Given the description of an element on the screen output the (x, y) to click on. 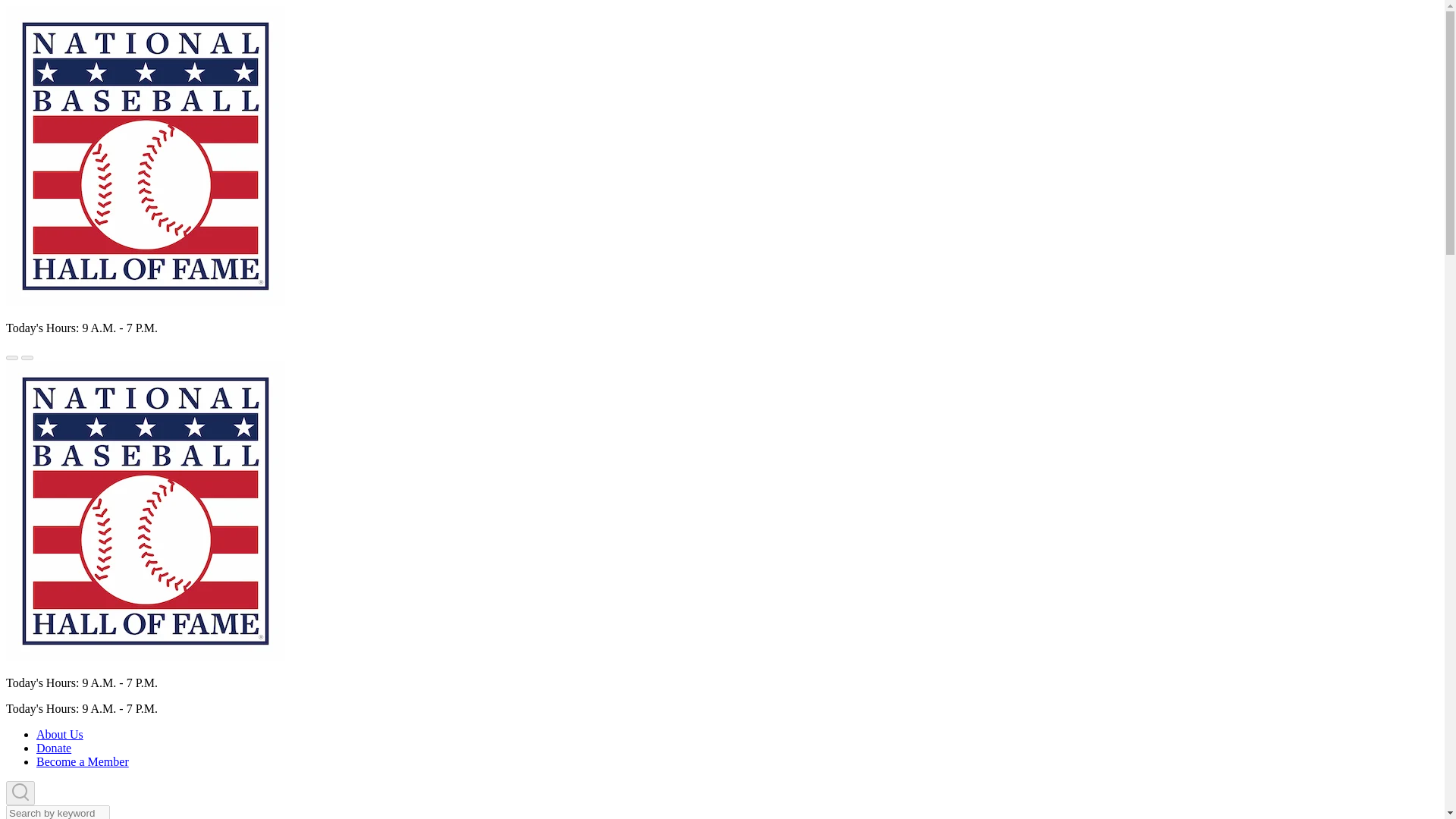
Enter search term (57, 812)
Donate (53, 748)
About Us (59, 734)
Become a Member (82, 761)
